Given the description of an element on the screen output the (x, y) to click on. 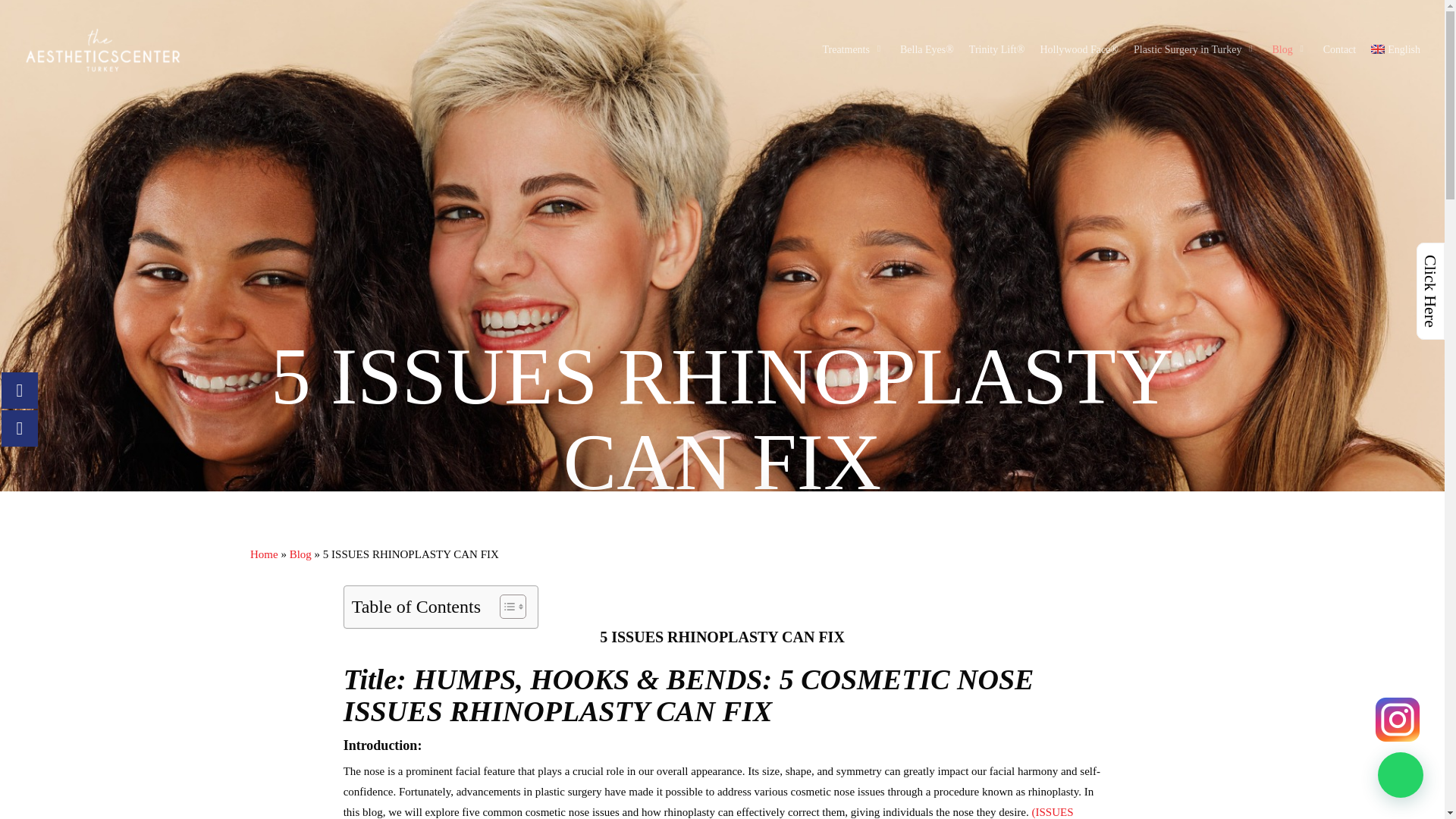
English (1377, 48)
Treatments (852, 49)
